Given the description of an element on the screen output the (x, y) to click on. 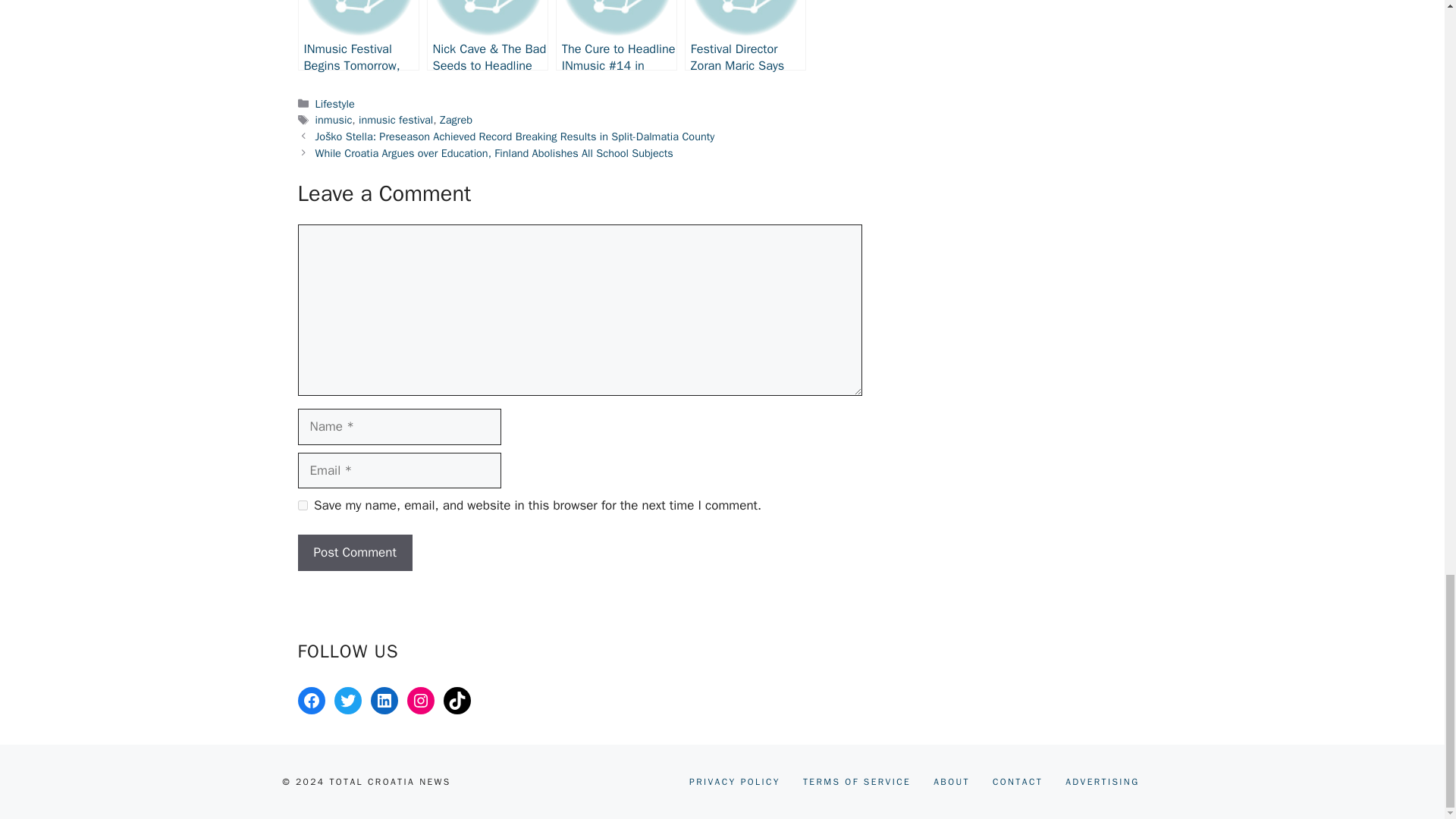
INmusic Festival Begins Tomorrow, Are You Ready? (358, 35)
Post Comment (354, 552)
yes (302, 505)
